Given the description of an element on the screen output the (x, y) to click on. 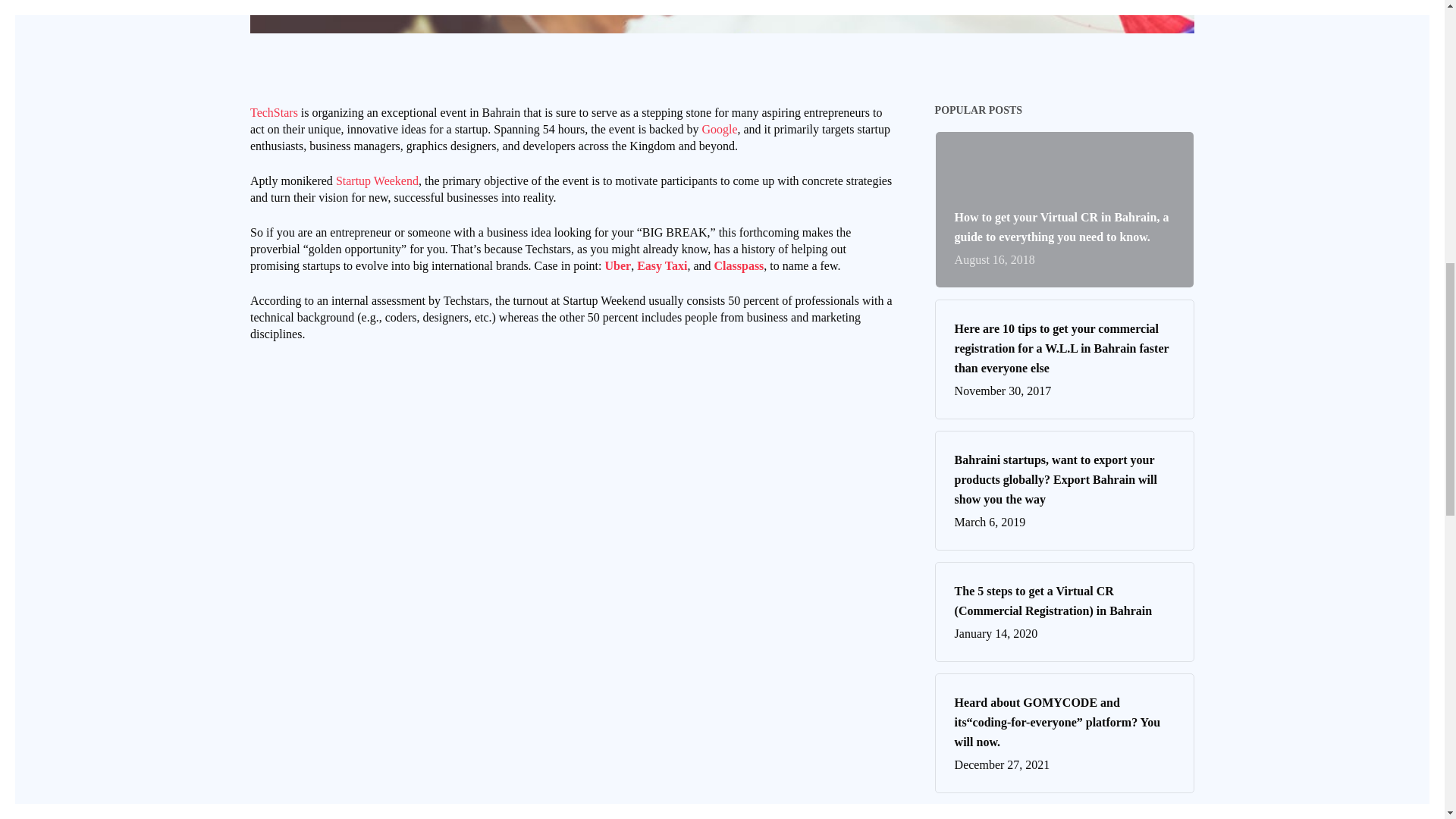
Classpass (739, 265)
Easy Taxi (662, 265)
 Uber (616, 265)
Startup Weekend (377, 180)
TechStars (274, 112)
Google (718, 128)
